Given the description of an element on the screen output the (x, y) to click on. 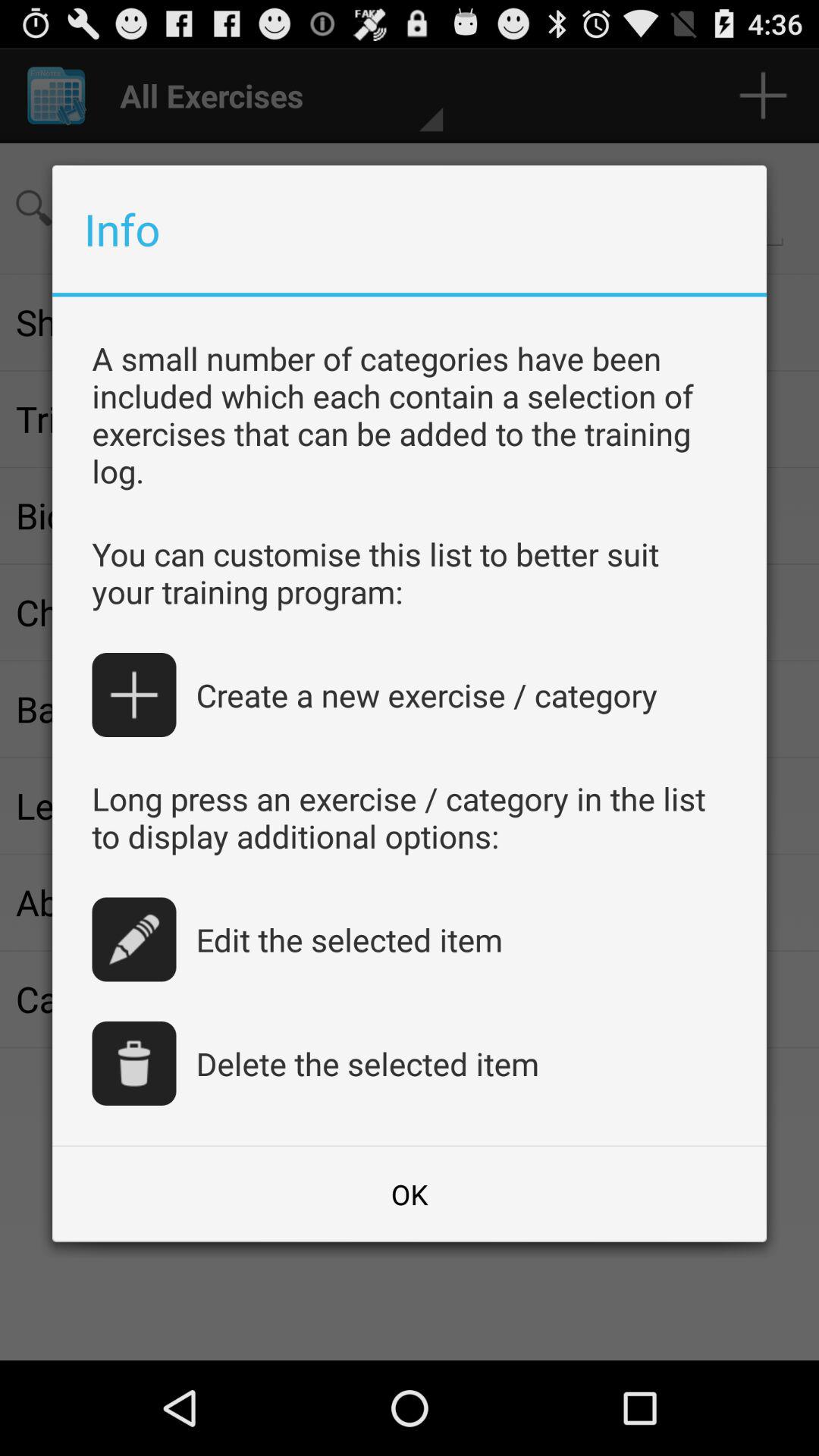
swipe to ok (409, 1194)
